Given the description of an element on the screen output the (x, y) to click on. 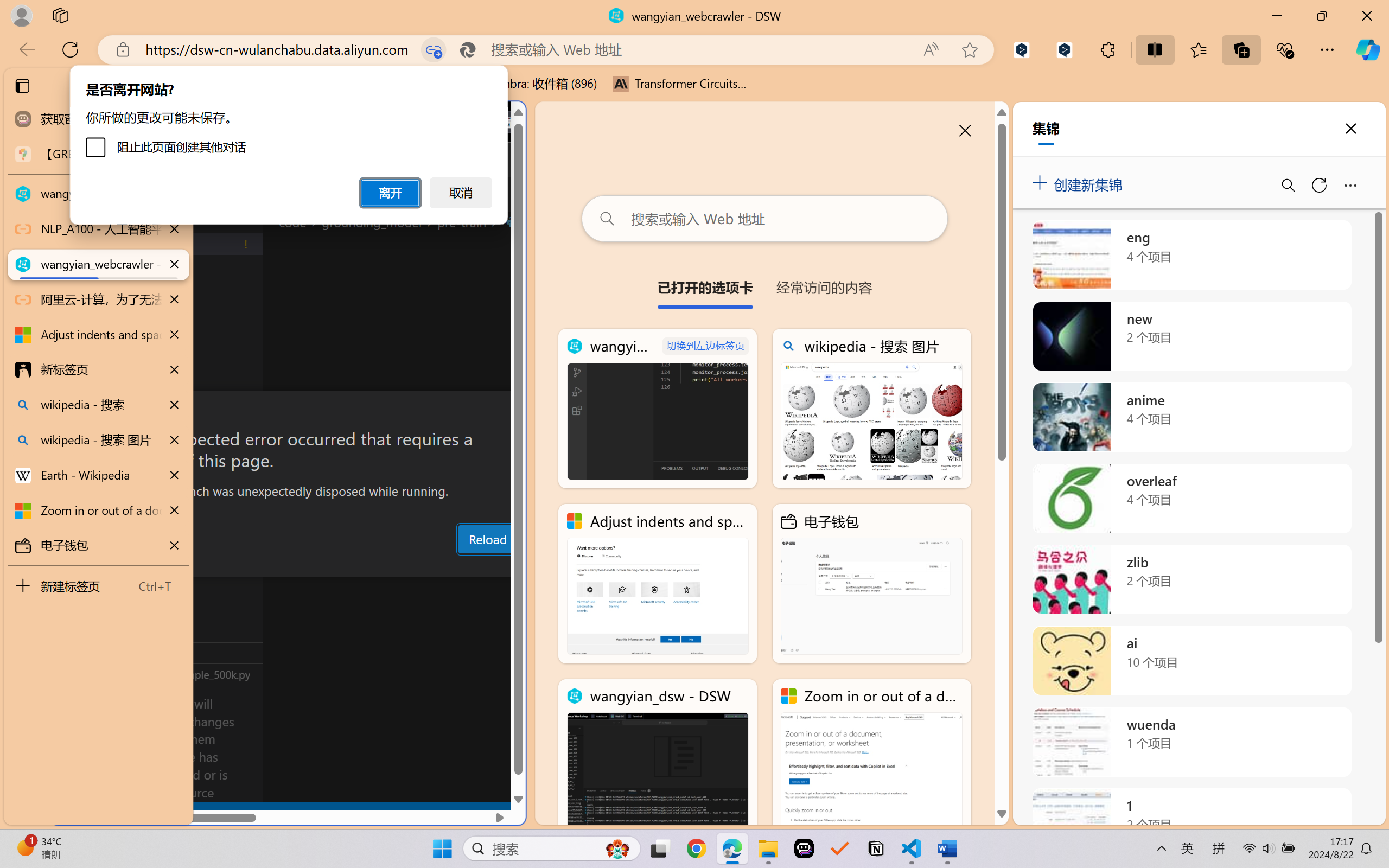
remote (66, 812)
Close Dialog (520, 410)
